Given the description of an element on the screen output the (x, y) to click on. 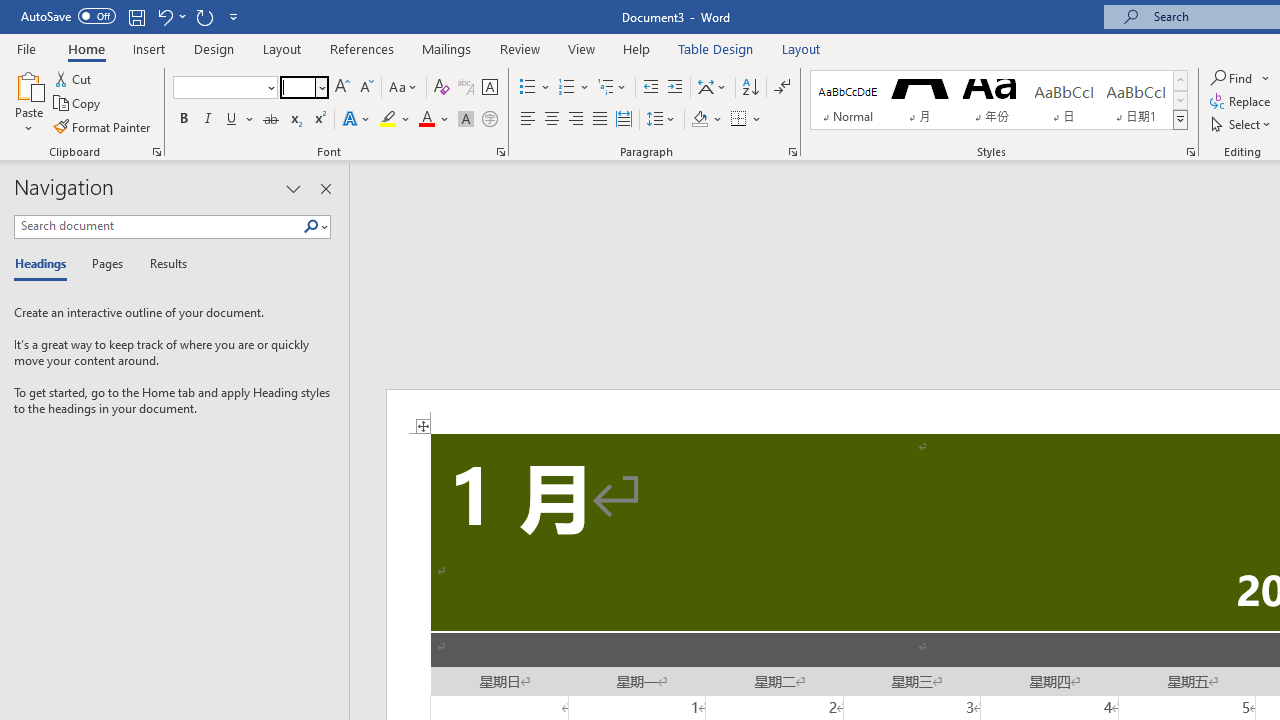
Undo Apply Quick Style (164, 15)
